Given the description of an element on the screen output the (x, y) to click on. 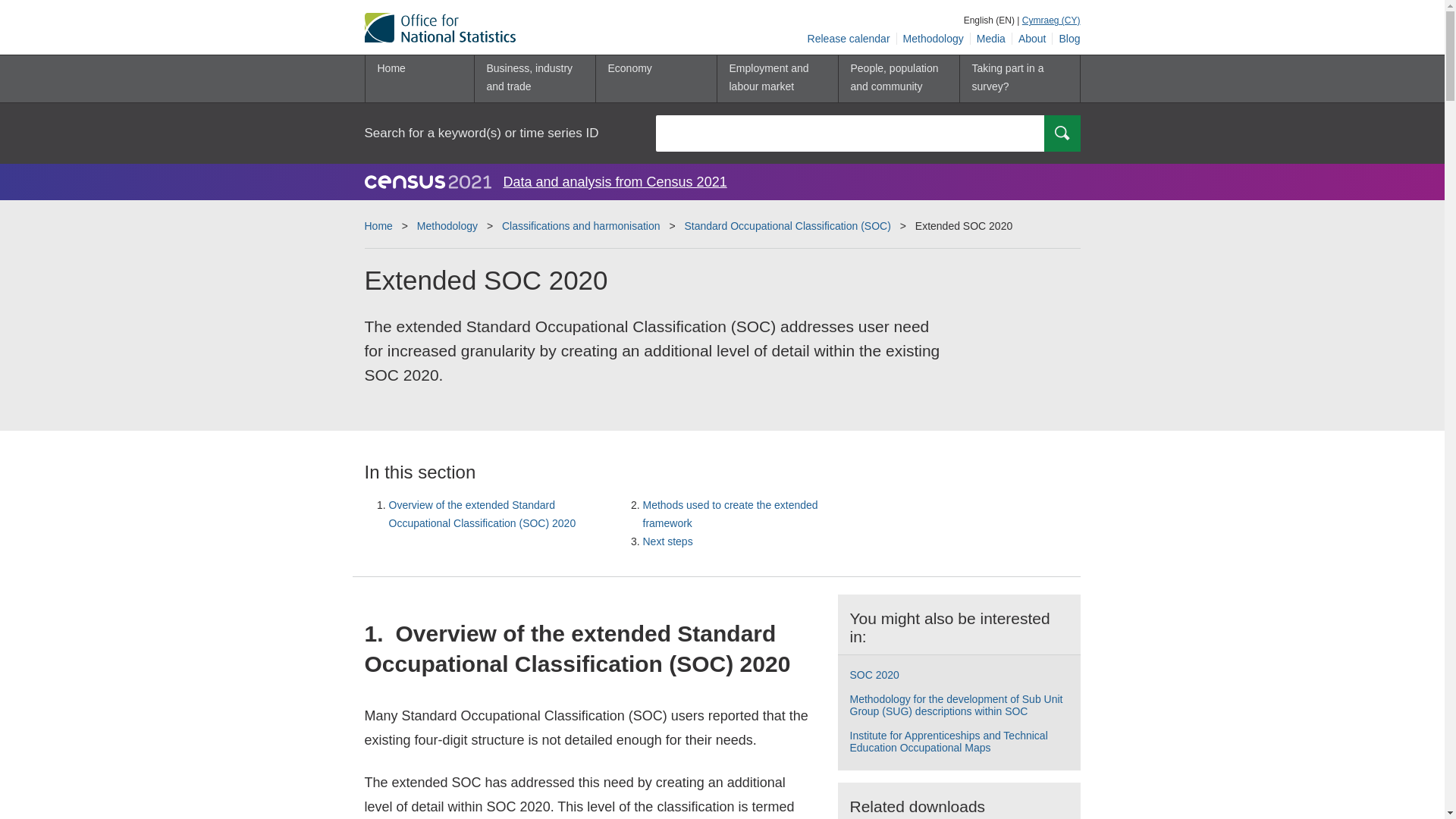
Release calendar (849, 38)
Blog (1066, 38)
About (1031, 38)
Media (991, 38)
Census 2021 (427, 181)
People, population and community (897, 78)
Economy (655, 78)
Employment and labour market (776, 78)
Next steps (668, 541)
Methodology (933, 38)
Business, industry and trade (533, 78)
Home (418, 78)
Methods used to create the extended framework (730, 513)
